Given the description of an element on the screen output the (x, y) to click on. 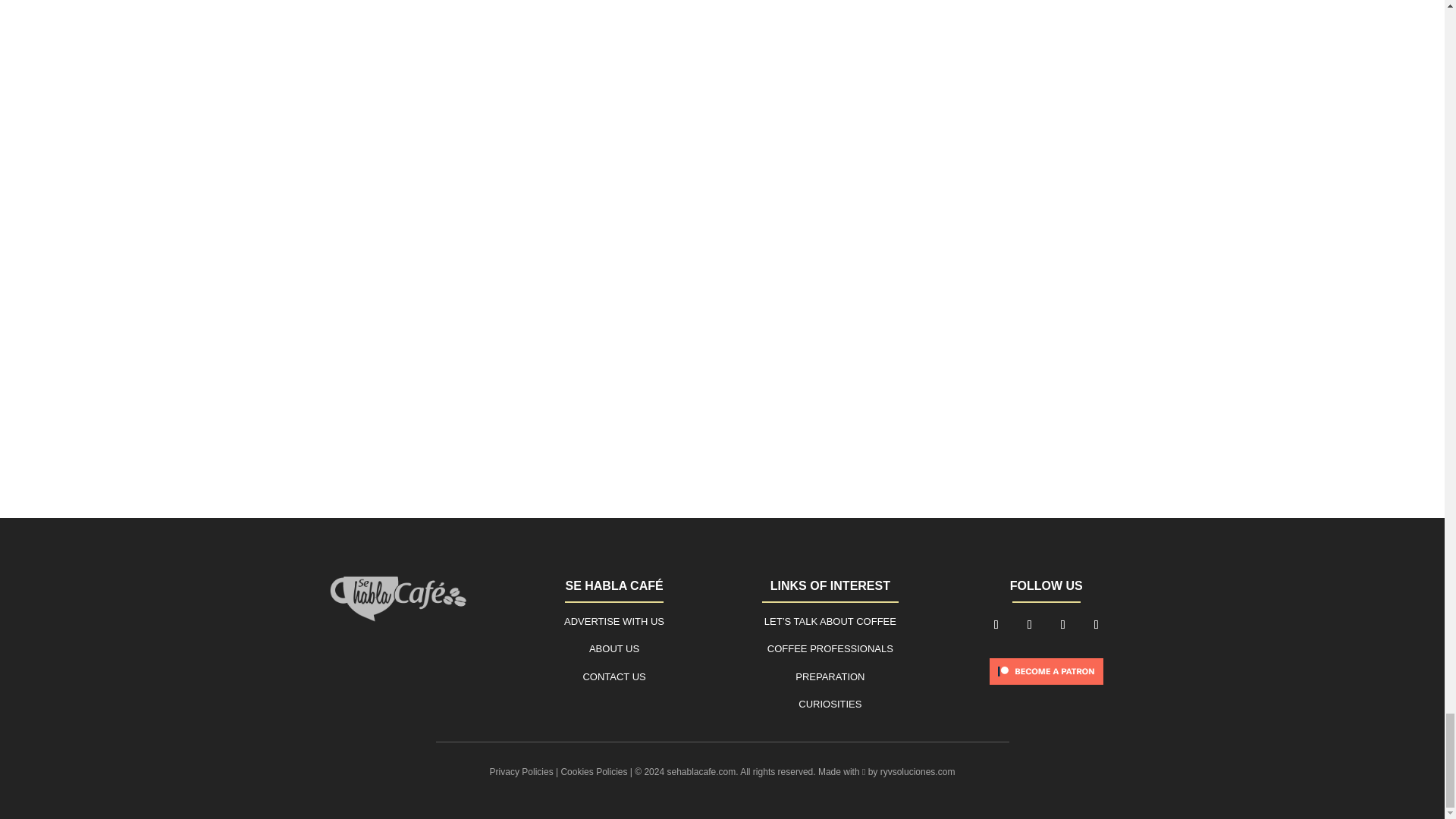
Follow on Youtube (1096, 624)
Follow on Facebook (996, 624)
Follow on Instagram (1063, 624)
Follow on X (1029, 624)
